Given the description of an element on the screen output the (x, y) to click on. 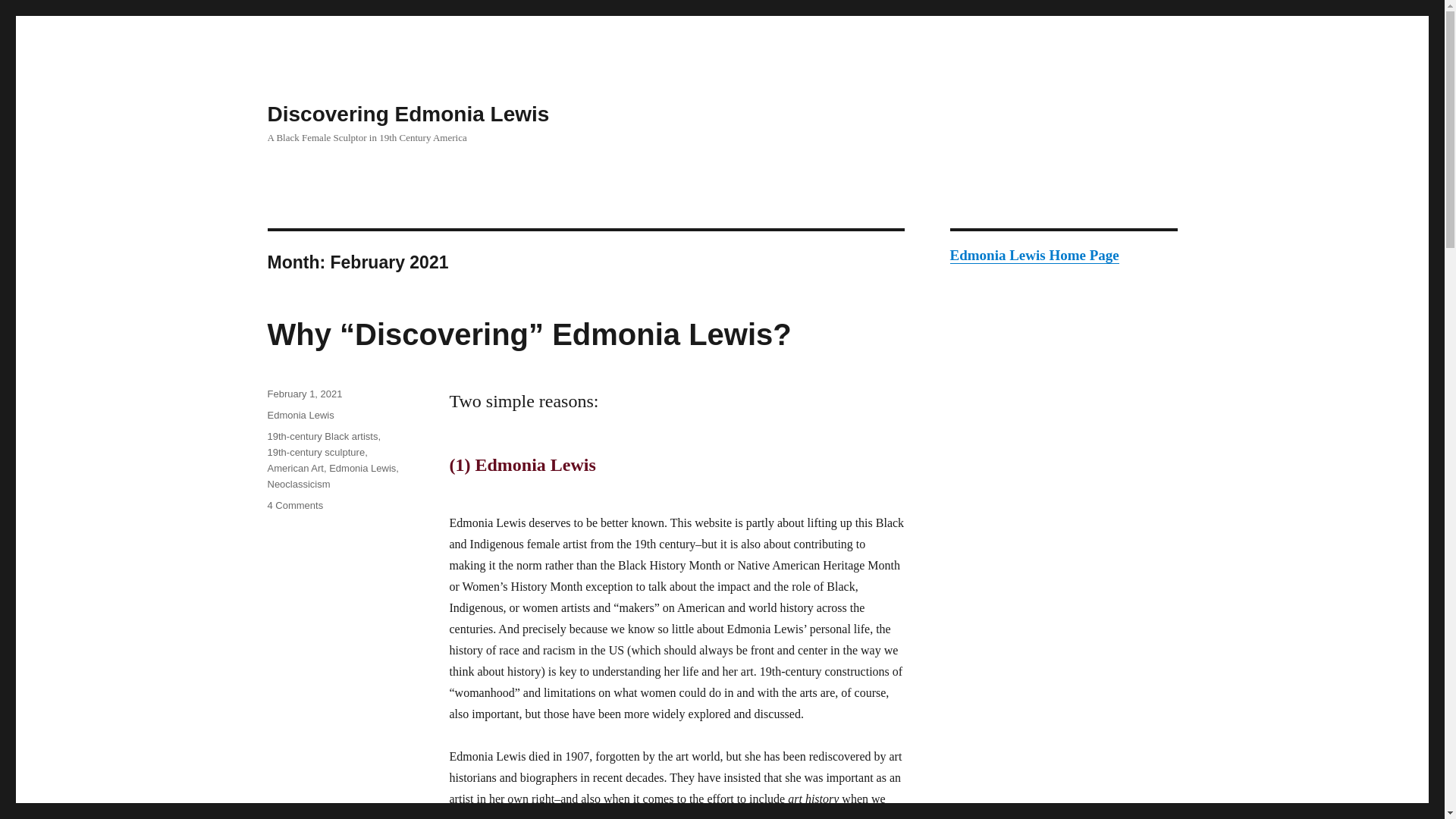
American Art (294, 468)
19th-century Black artists (321, 436)
19th-century sculpture (315, 451)
Discovering Edmonia Lewis (407, 114)
Edmonia Lewis (362, 468)
Edmonia Lewis Home Page (1033, 254)
Neoclassicism (298, 483)
Edmonia Lewis (299, 414)
February 1, 2021 (304, 393)
